Given the description of an element on the screen output the (x, y) to click on. 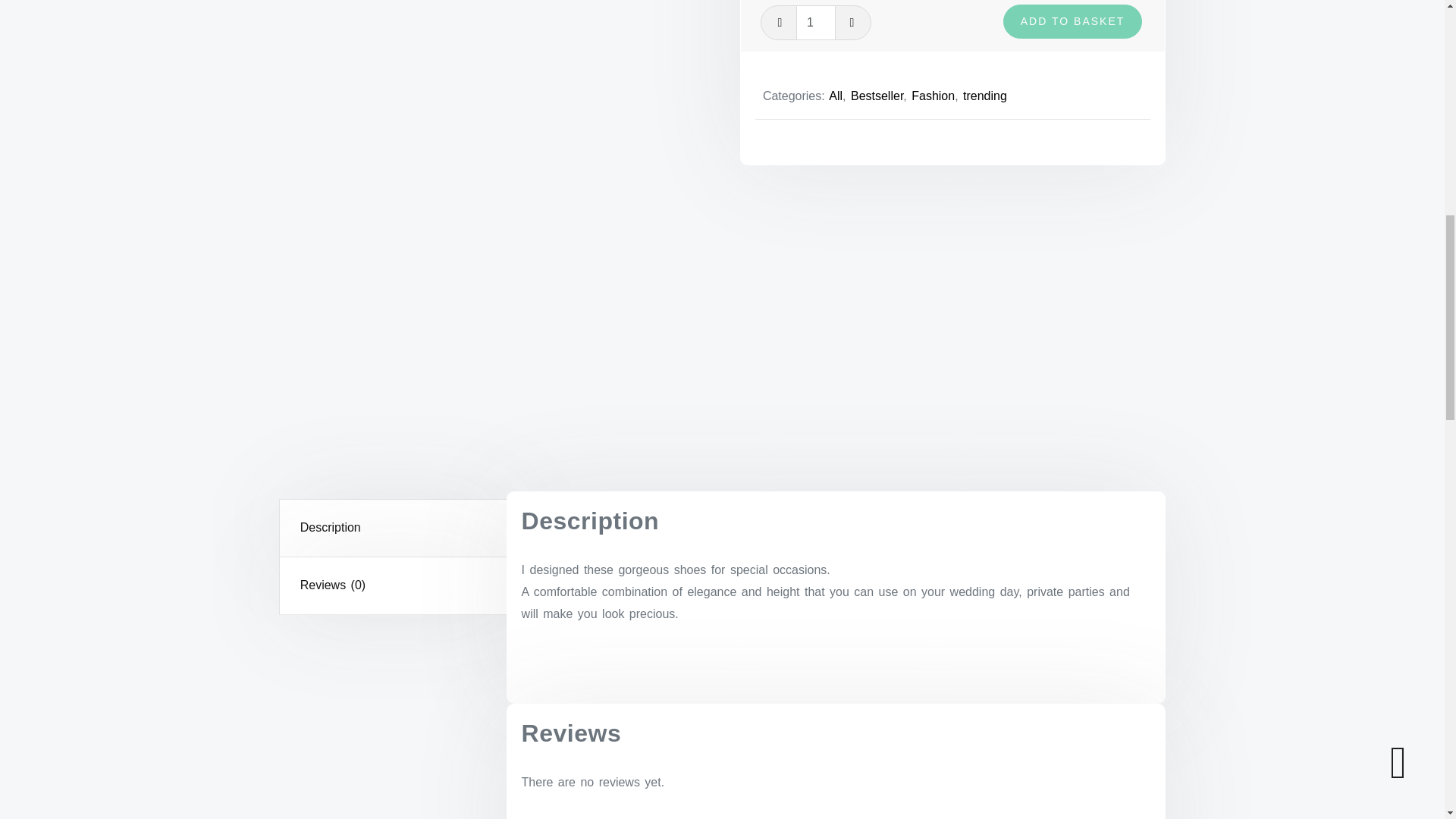
Bestseller (876, 95)
trending (984, 95)
Fashion (933, 95)
ADD TO BASKET (1072, 21)
1 (815, 22)
All (835, 95)
Description (395, 528)
